Given the description of an element on the screen output the (x, y) to click on. 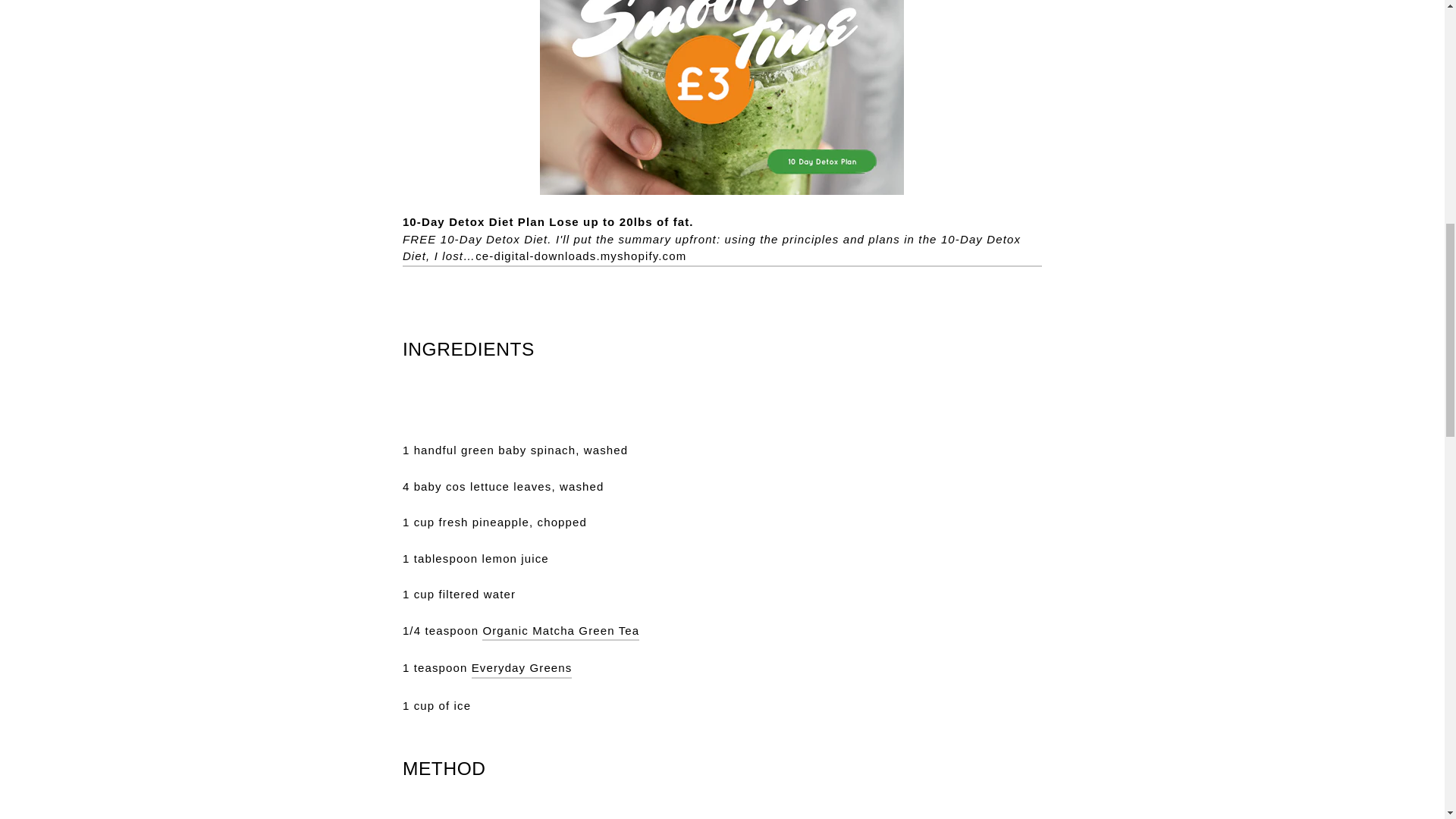
Everyday Greens (521, 669)
Organic Matcha Green Tea (560, 631)
